Given the description of an element on the screen output the (x, y) to click on. 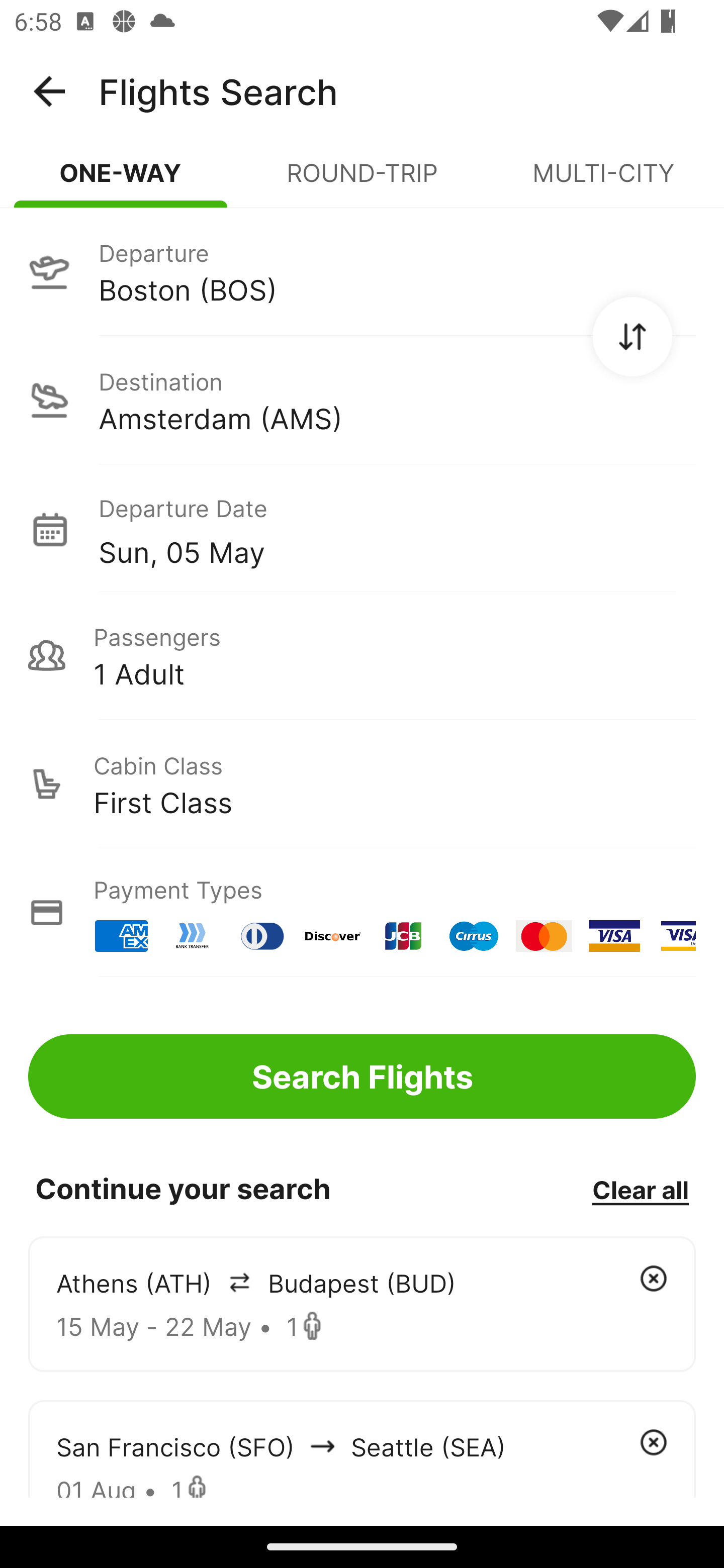
ONE-WAY (120, 180)
ROUND-TRIP (361, 180)
MULTI-CITY (603, 180)
Departure Boston (BOS) (362, 270)
Destination Amsterdam (AMS) (362, 400)
Departure Date Sun, 05 May (396, 528)
Passengers 1 Adult (362, 655)
Cabin Class First Class (362, 783)
Payment Types (362, 912)
Search Flights (361, 1075)
Clear all (640, 1189)
